Given the description of an element on the screen output the (x, y) to click on. 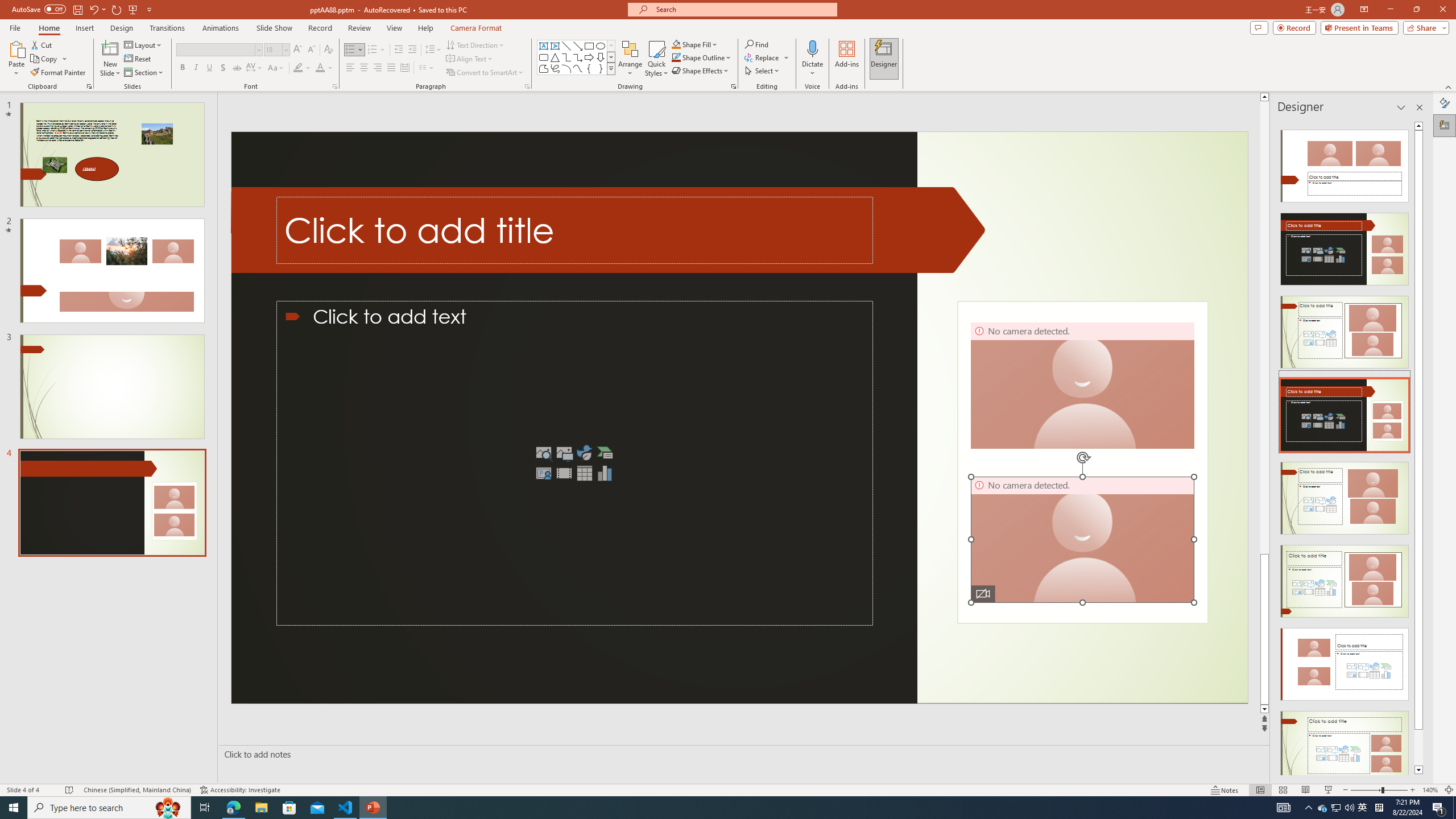
Rectangle: Rounded Corners (543, 57)
New Slide (110, 58)
Notes  (1225, 790)
Italic (195, 67)
Rectangle (589, 45)
Shapes (611, 68)
Insert Video (563, 473)
Replace... (767, 56)
Font Size (276, 49)
Paste (16, 48)
Class: NetUIImage (610, 68)
Stock Images (543, 452)
Justify (390, 67)
